Given the description of an element on the screen output the (x, y) to click on. 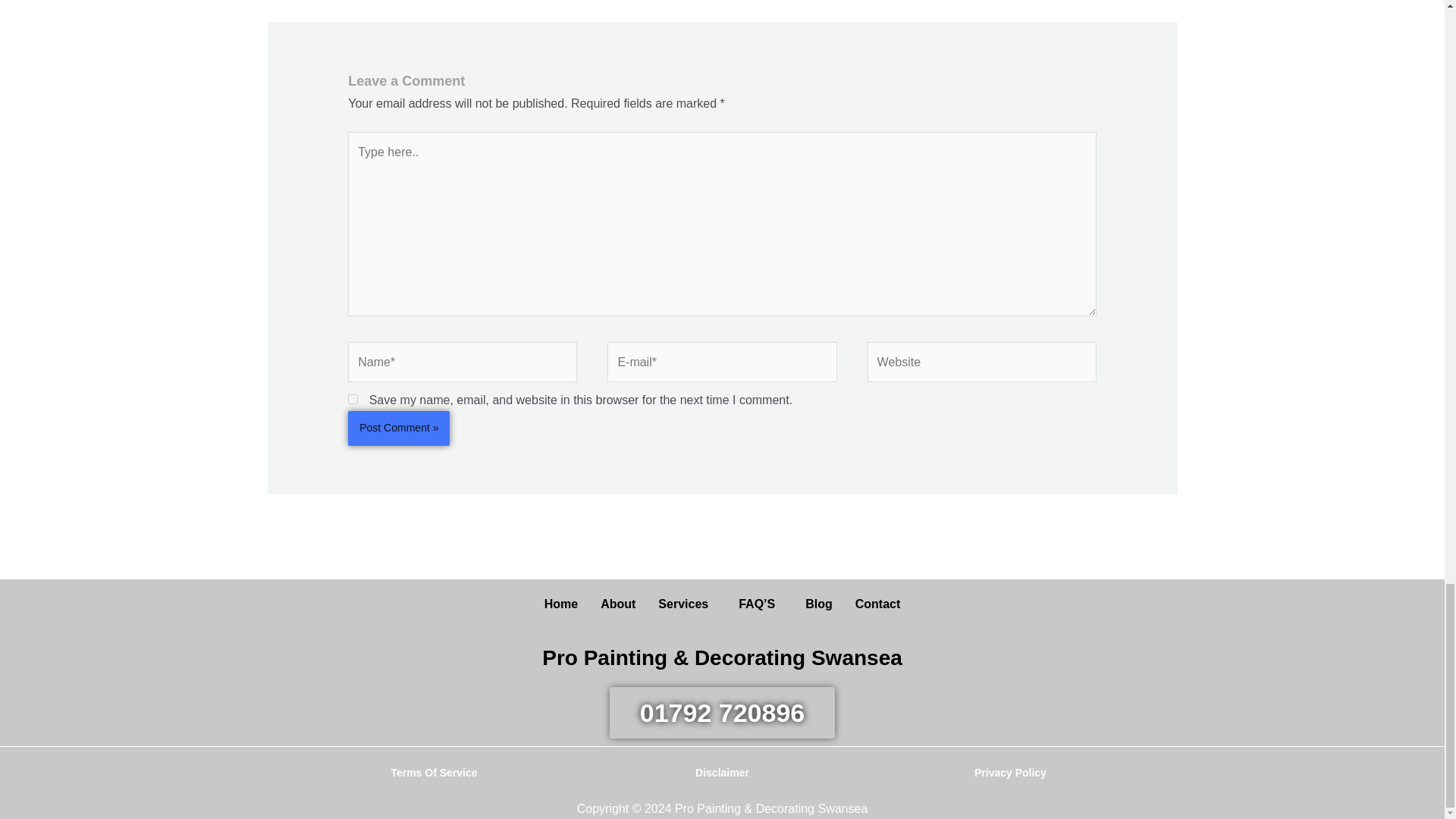
yes (352, 398)
